Given the description of an element on the screen output the (x, y) to click on. 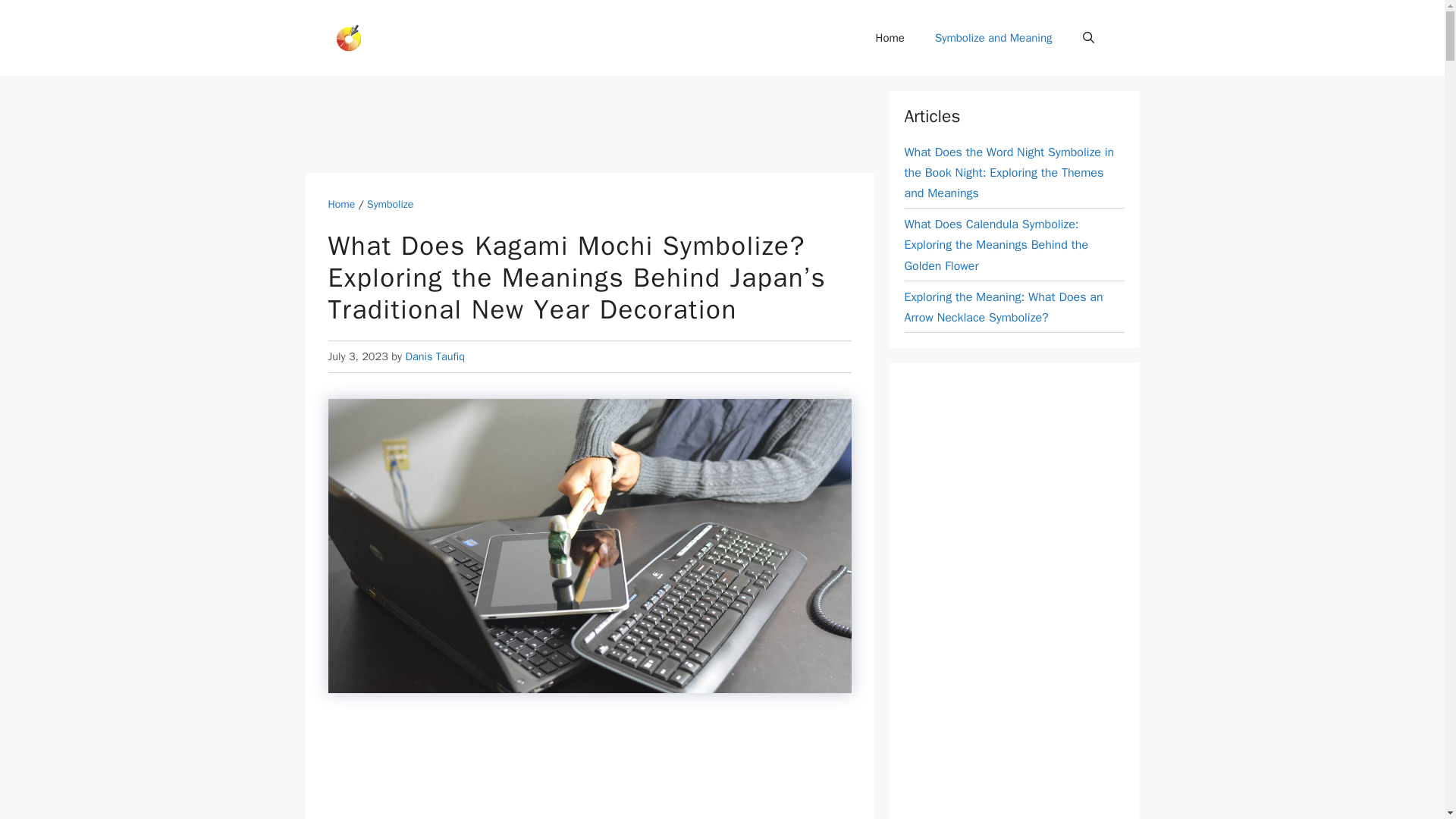
Home (890, 37)
Symbolize (389, 204)
Advertisement (589, 769)
Symbolize and Meaning (993, 37)
Home (341, 204)
View all posts by Danis Taufiq (434, 356)
Danis Taufiq (434, 356)
Advertisement (580, 124)
